Given the description of an element on the screen output the (x, y) to click on. 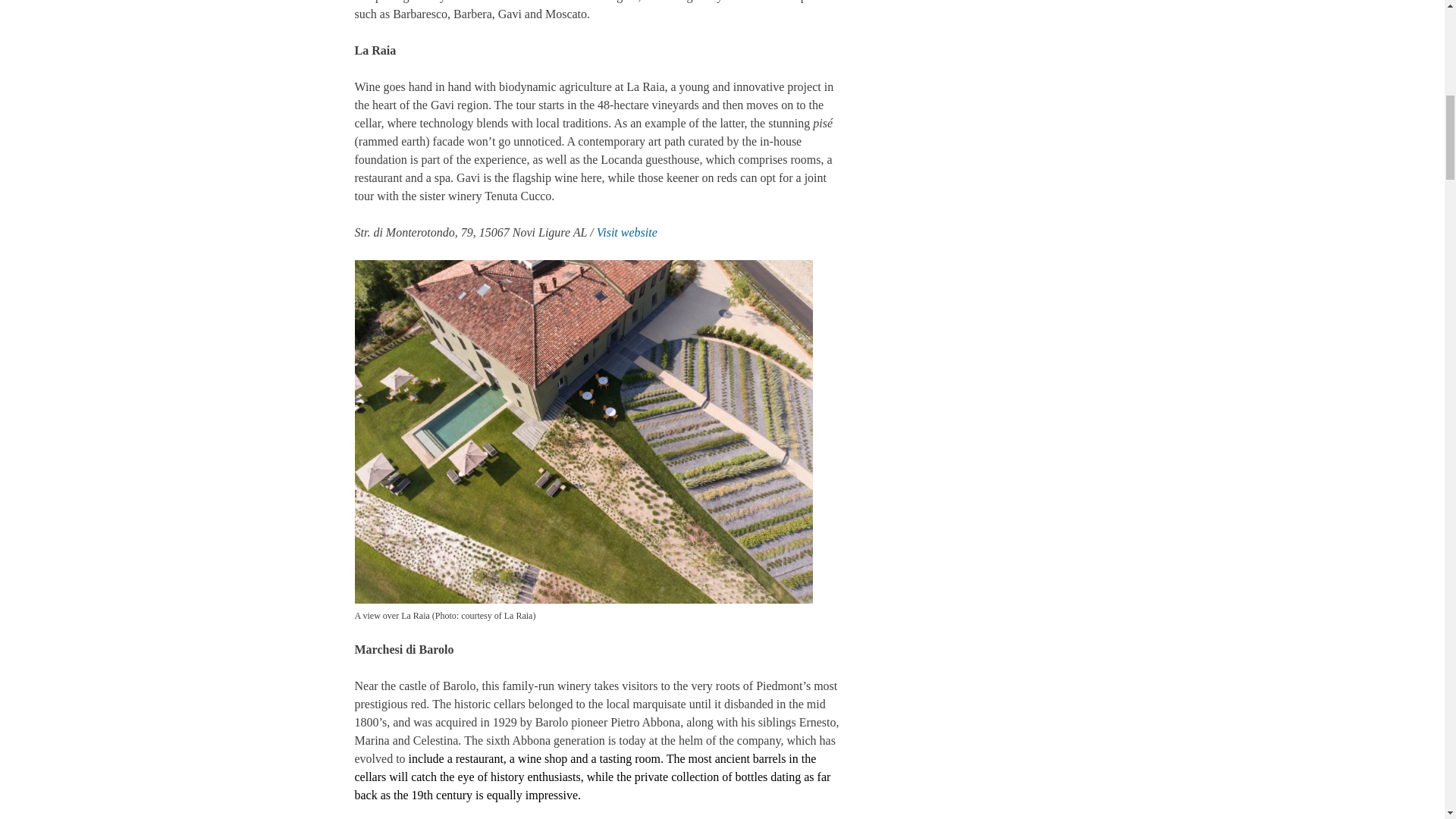
Visit website (627, 232)
